Given the description of an element on the screen output the (x, y) to click on. 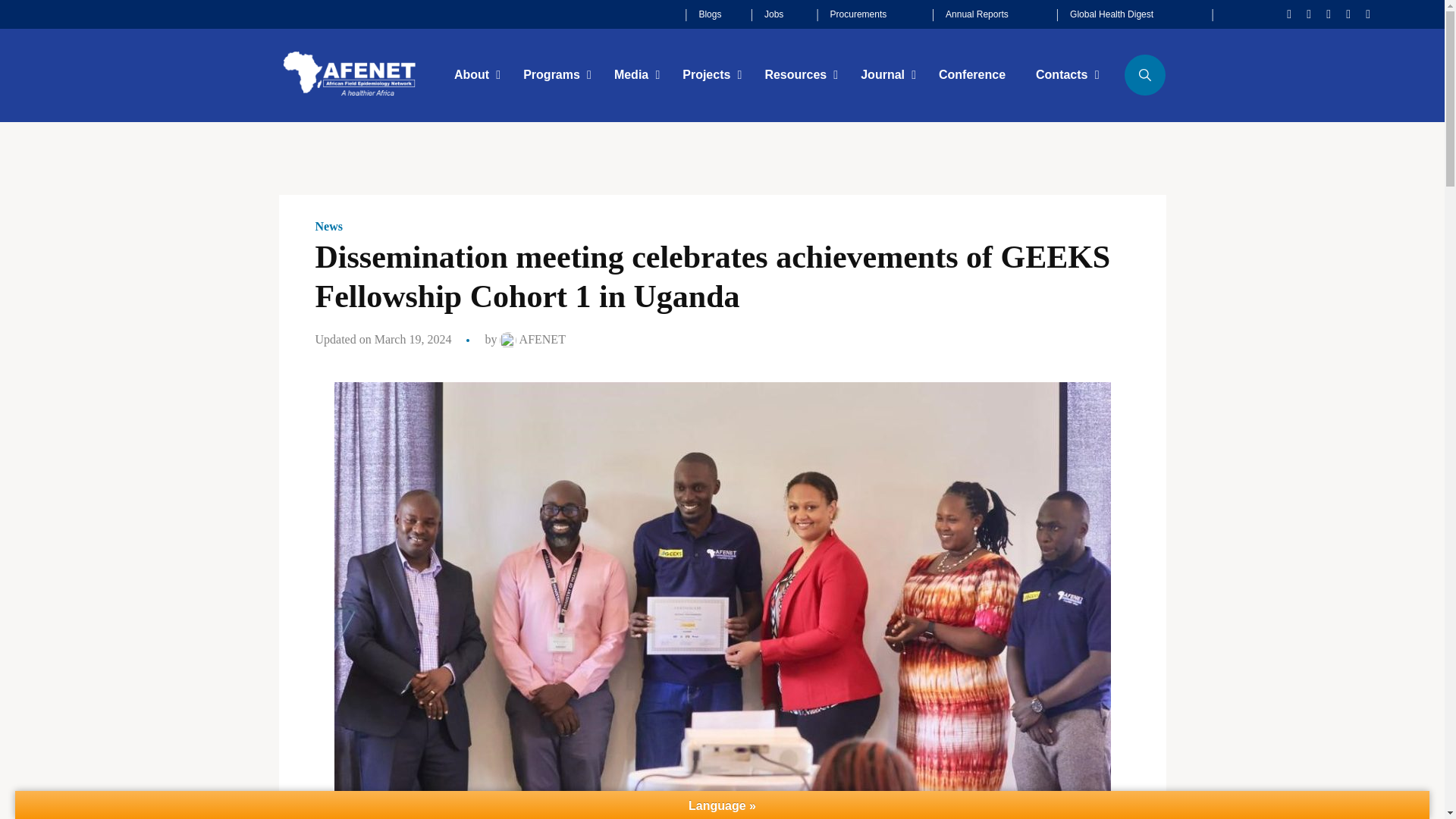
Global Health Digest (1111, 14)
Jobs (773, 14)
Programs (553, 75)
Blogs (709, 14)
Annual Reports (976, 14)
Procurements (857, 14)
About (473, 75)
